Given the description of an element on the screen output the (x, y) to click on. 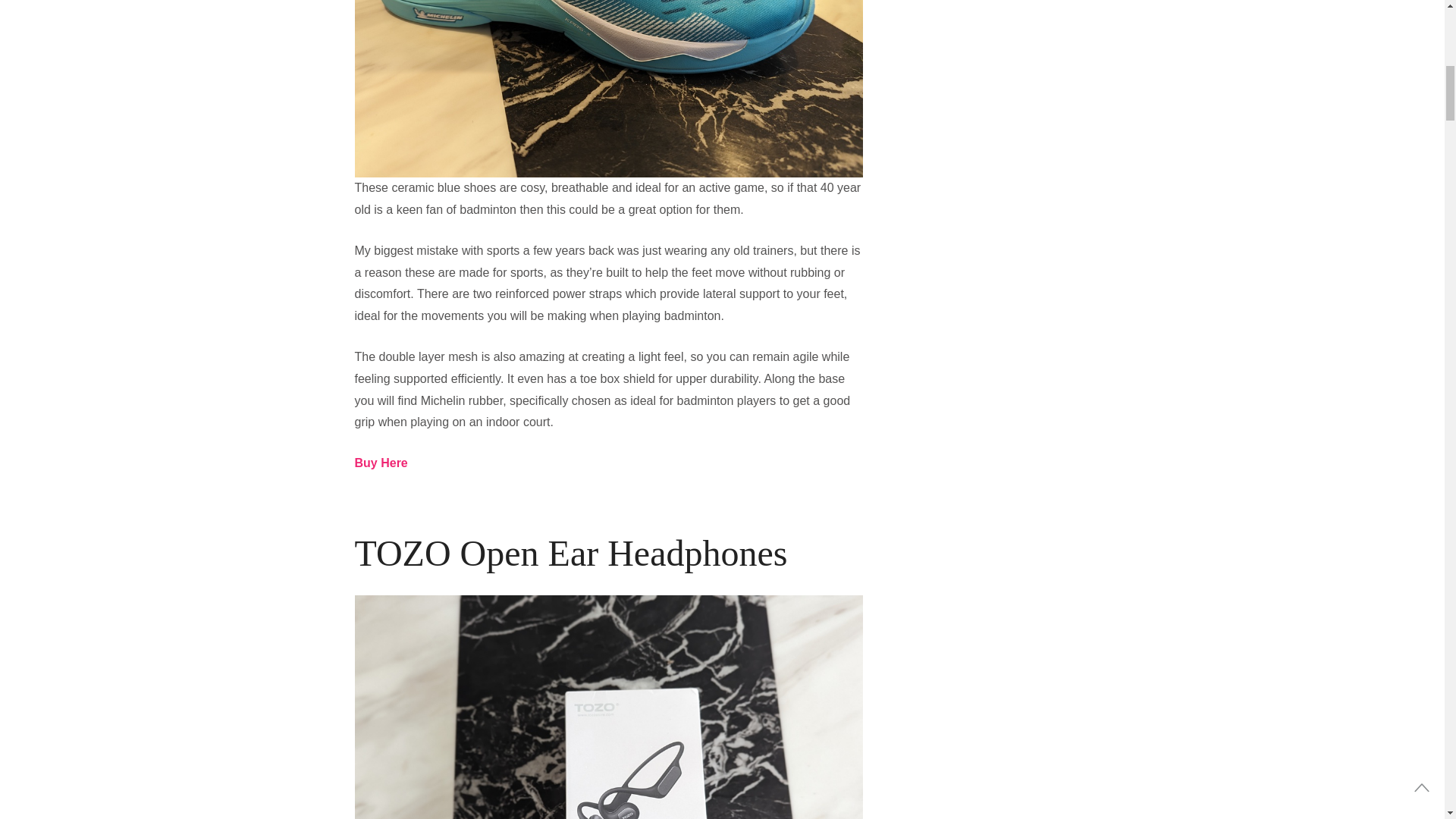
Buy Here (381, 462)
